Given the description of an element on the screen output the (x, y) to click on. 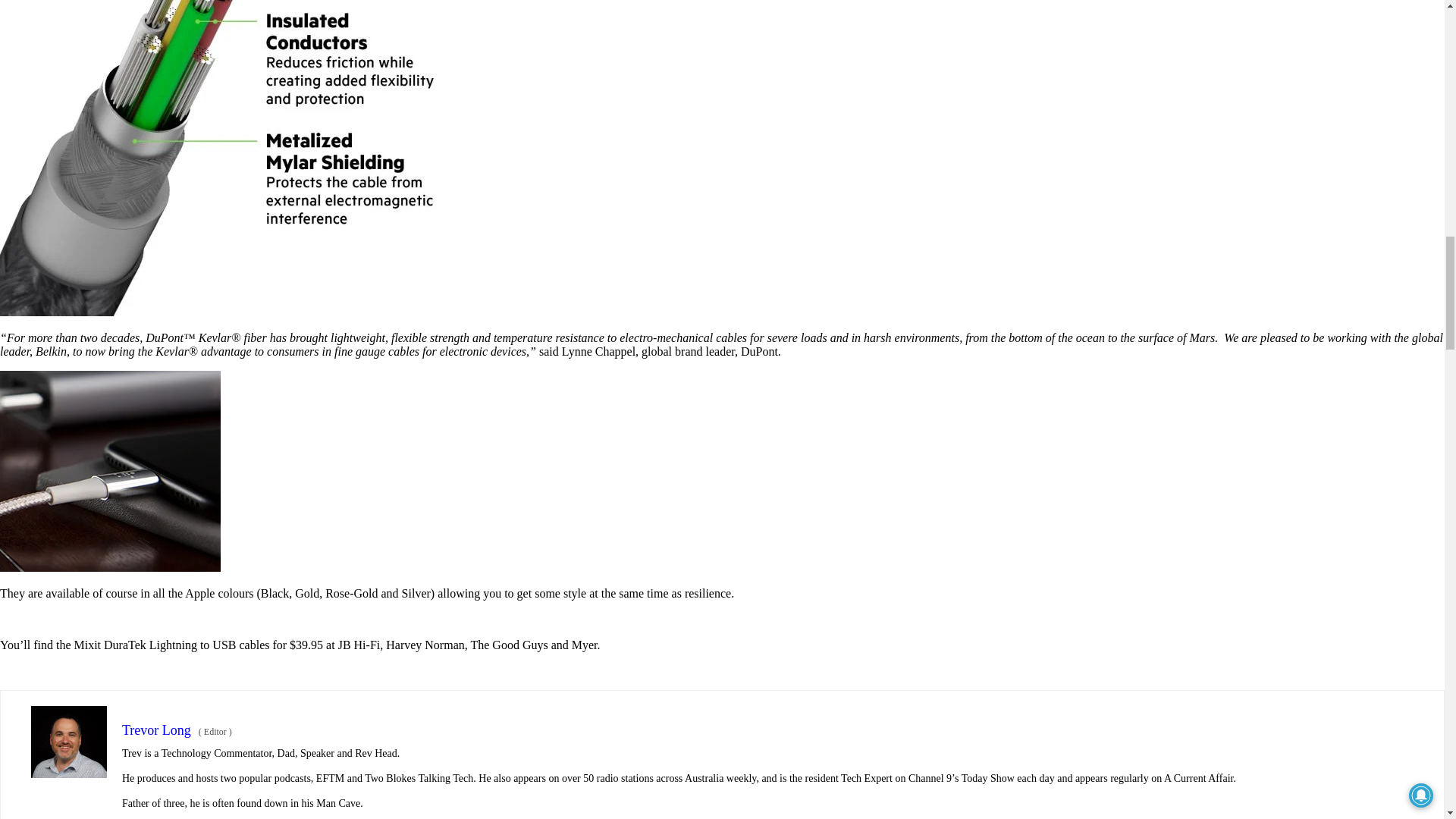
Trevor Long (156, 729)
